Given the description of an element on the screen output the (x, y) to click on. 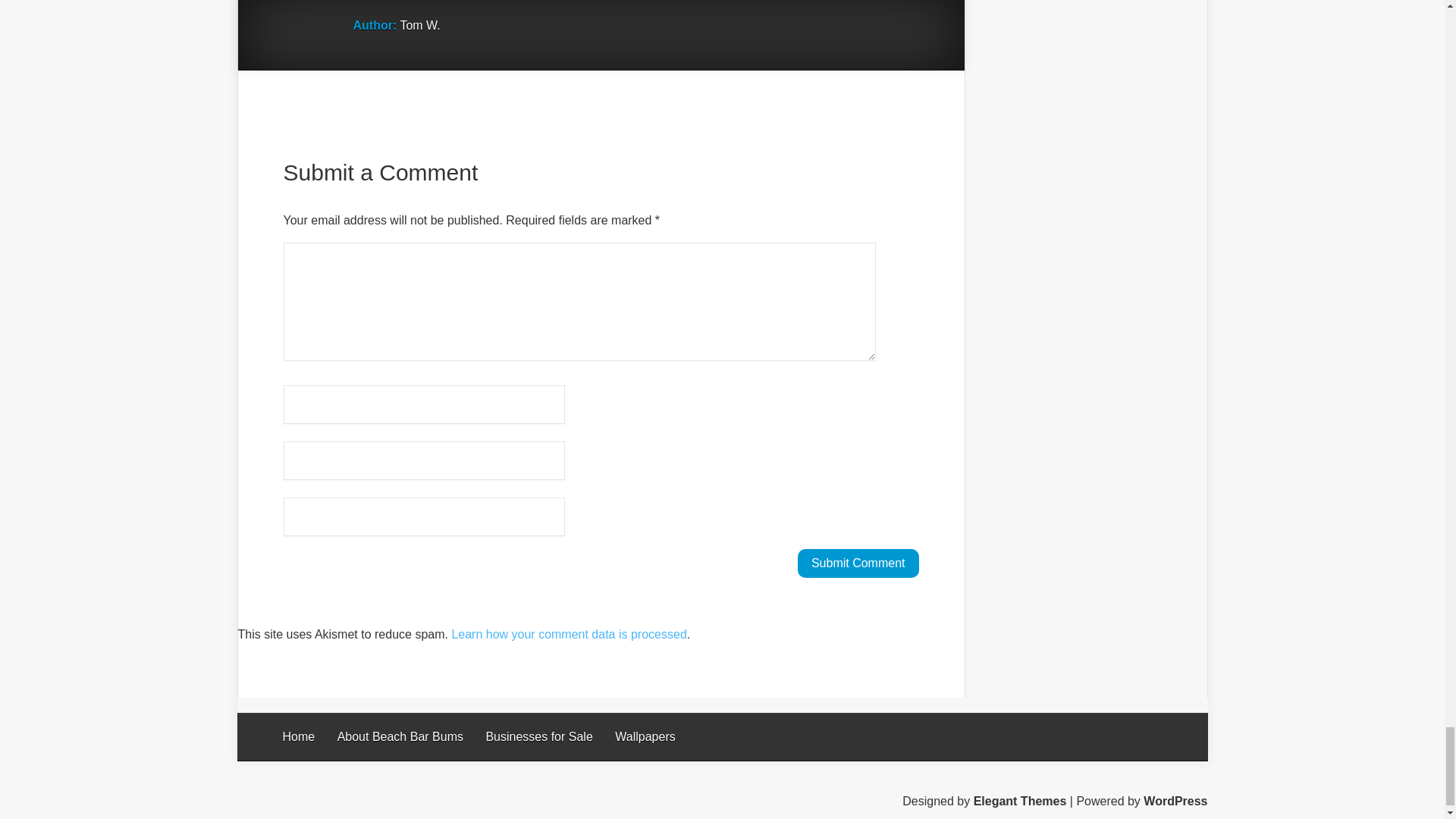
Premium WordPress Themes (1020, 800)
Submit Comment (857, 563)
